Given the description of an element on the screen output the (x, y) to click on. 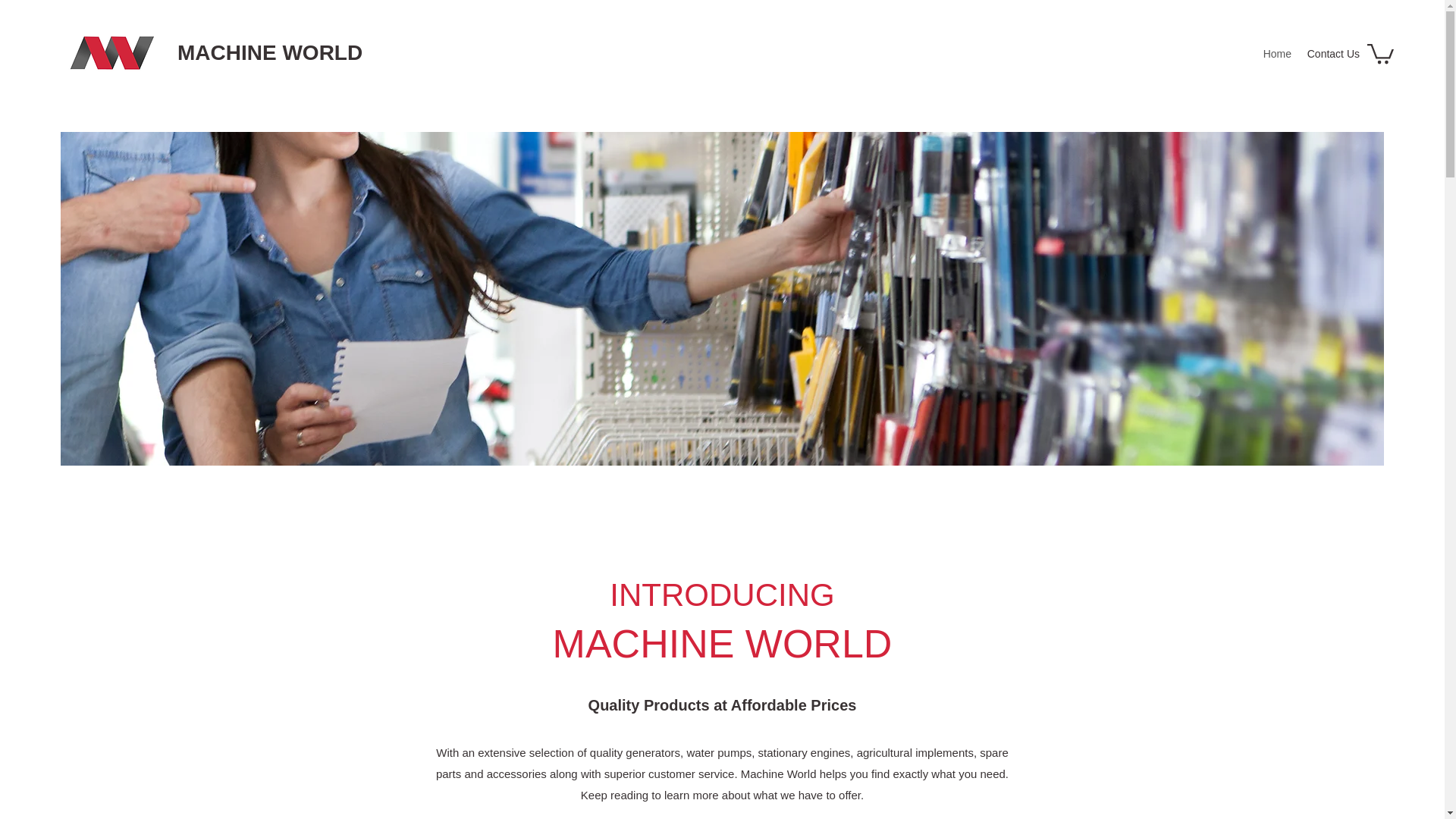
MACHINE WORLD (269, 52)
Contact Us (1332, 53)
Home (1276, 53)
